Given the description of an element on the screen output the (x, y) to click on. 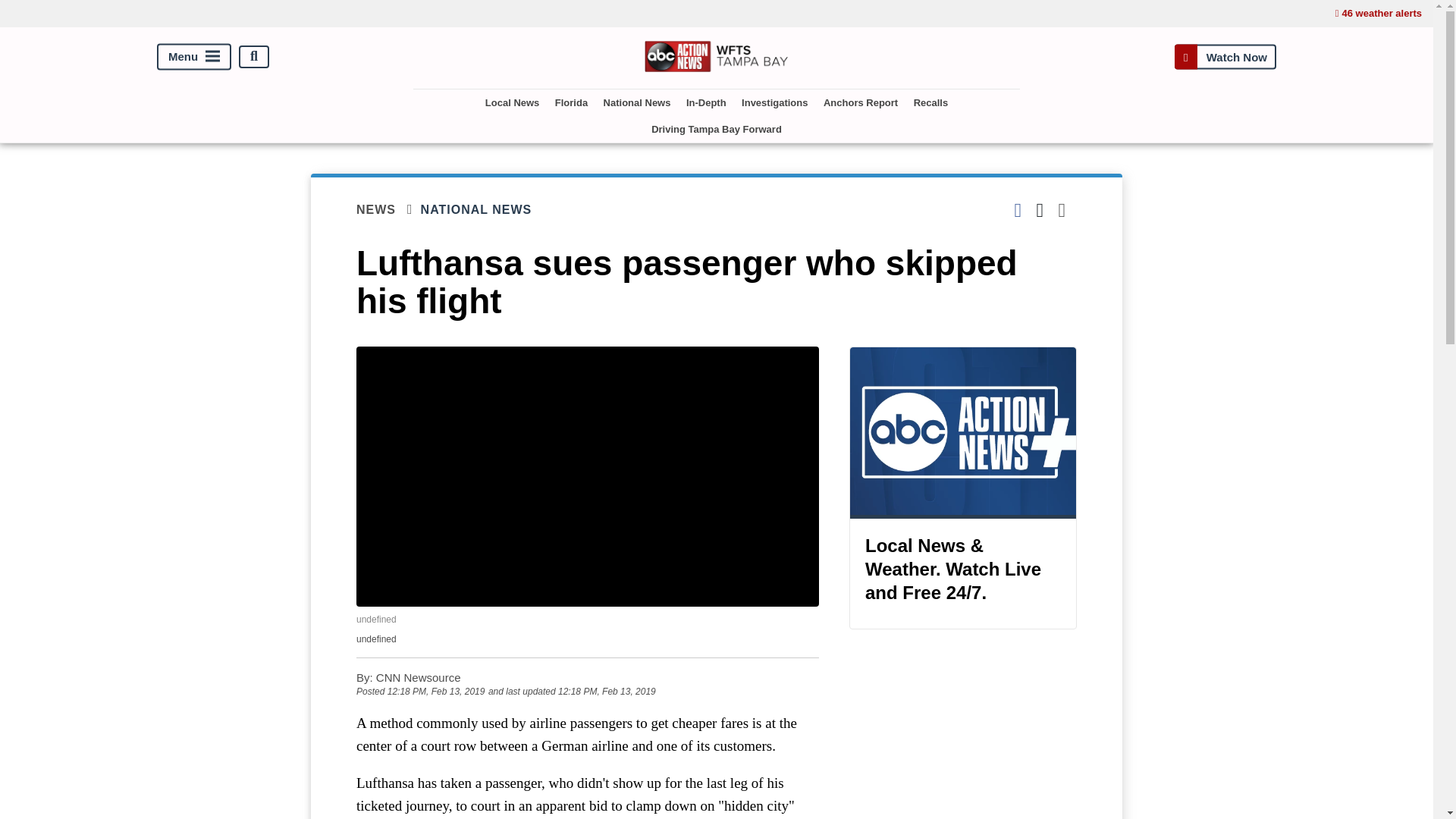
Menu (194, 56)
Watch Now (1224, 56)
